Given the description of an element on the screen output the (x, y) to click on. 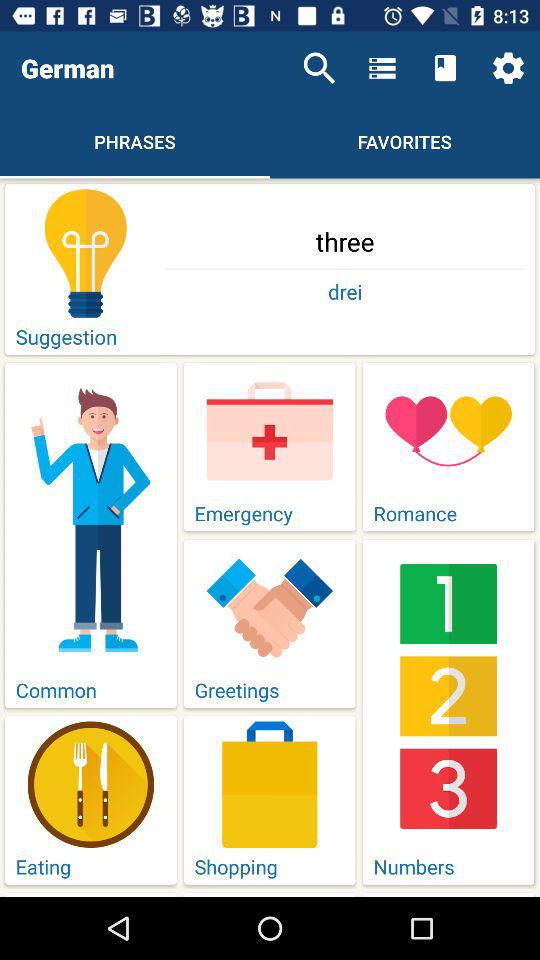
click icon above the three icon (319, 67)
